Given the description of an element on the screen output the (x, y) to click on. 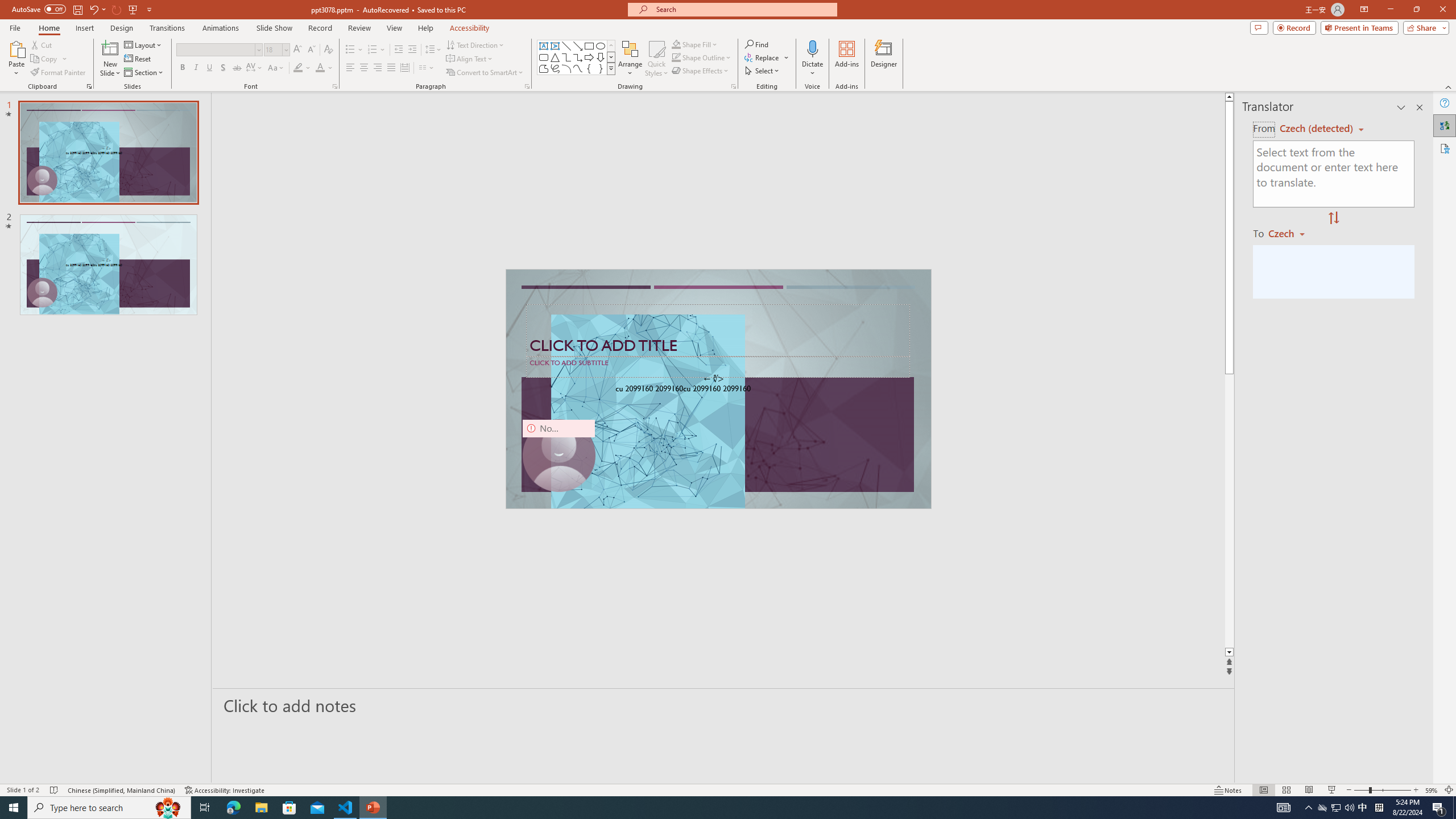
Layout (143, 44)
Slide Notes (724, 705)
Section (144, 72)
